Given the description of an element on the screen output the (x, y) to click on. 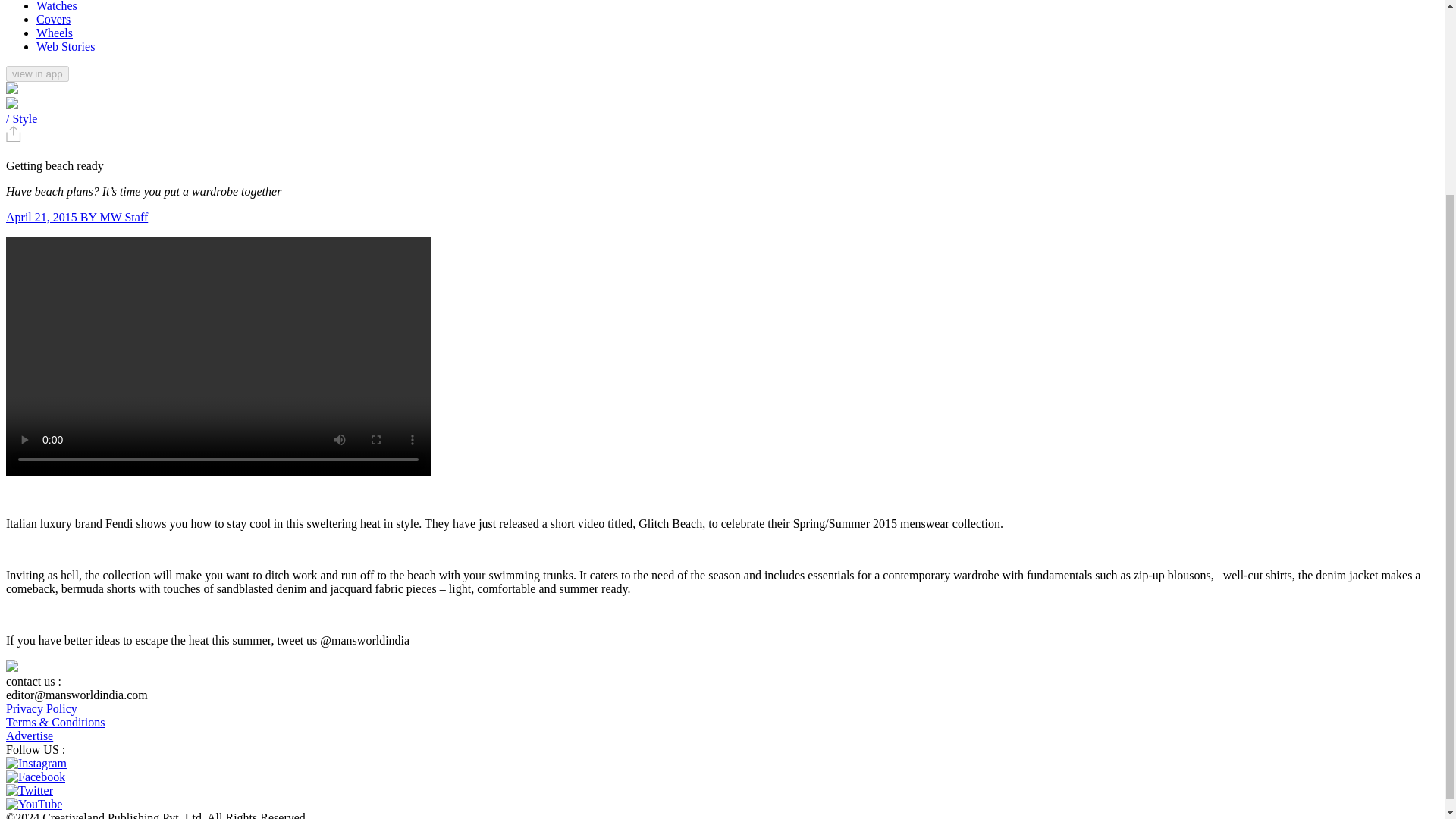
Wheels (54, 32)
Web Stories (65, 46)
Watches (56, 6)
view in app (36, 73)
Covers (52, 19)
